Given the description of an element on the screen output the (x, y) to click on. 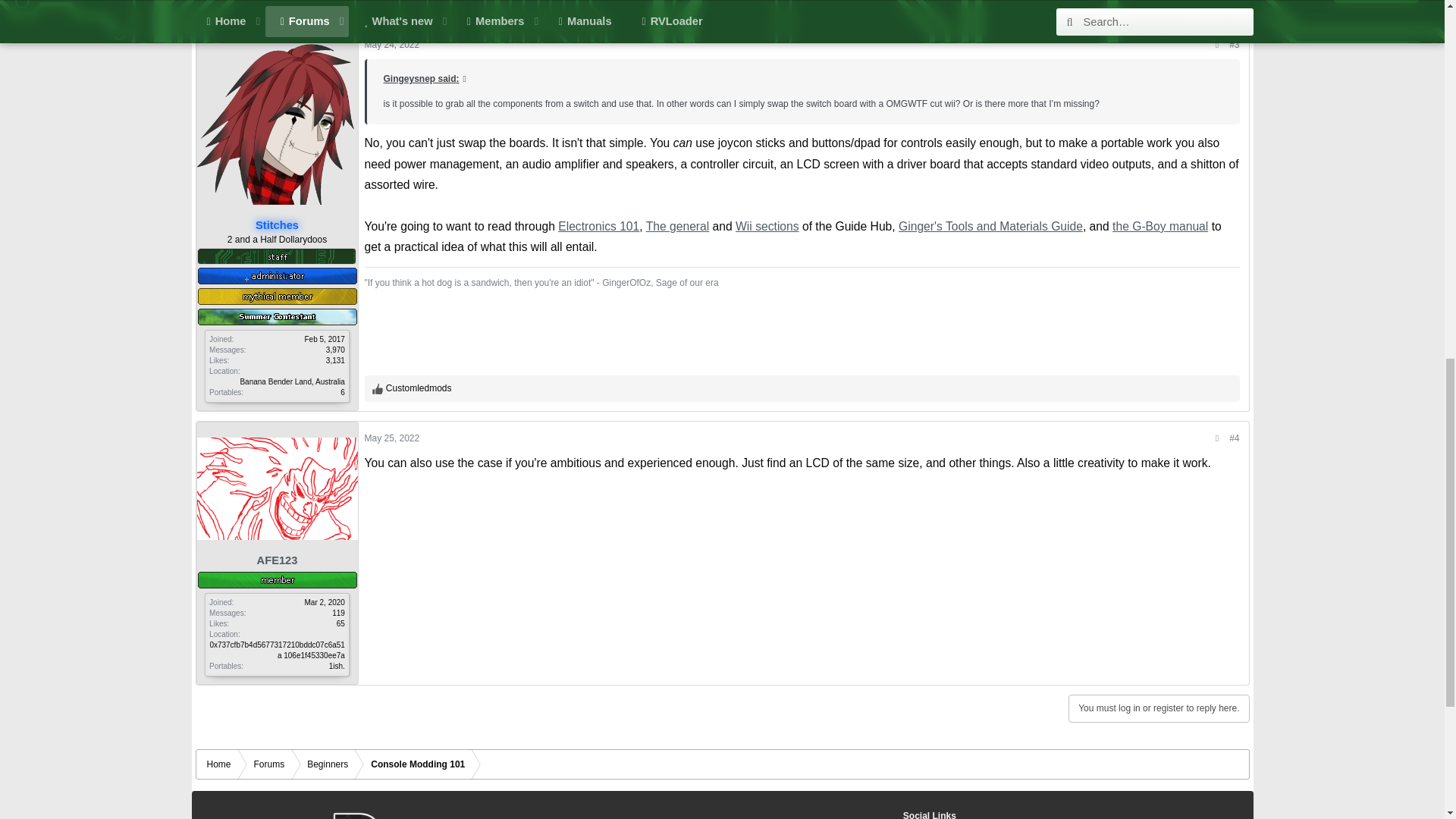
May 24, 2022 at 11:53 PM (391, 44)
May 25, 2022 at 3:44 AM (391, 438)
Like (377, 388)
May 24, 2022 at 11:09 PM (1214, 2)
